Given the description of an element on the screen output the (x, y) to click on. 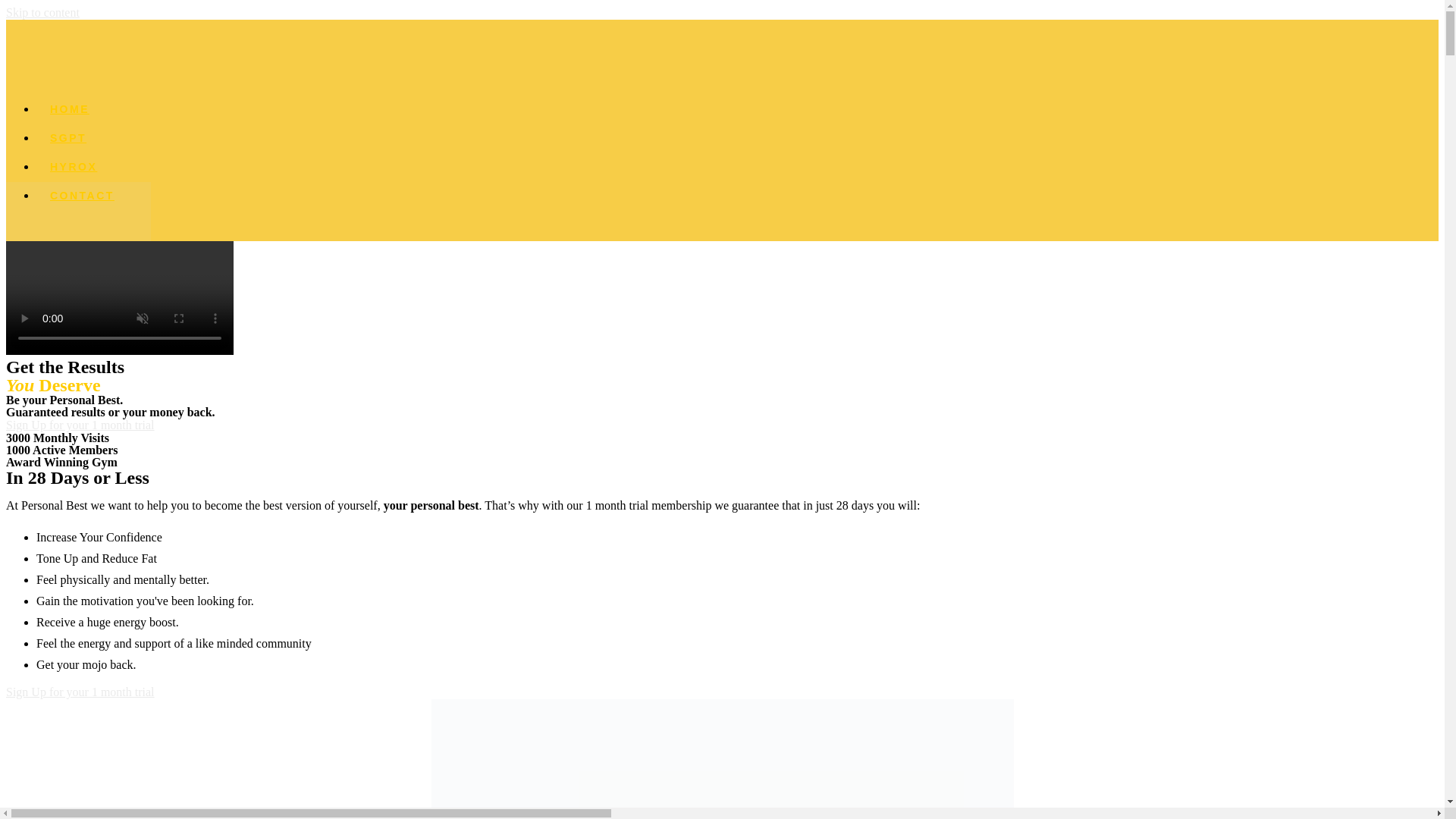
CONTACT (82, 195)
Sign Up for your 1 month trial (79, 424)
SGPT (68, 137)
HOME (69, 109)
Skip to content (42, 11)
HYROX (73, 166)
Sign Up for your 1 month trial (79, 691)
